Given the description of an element on the screen output the (x, y) to click on. 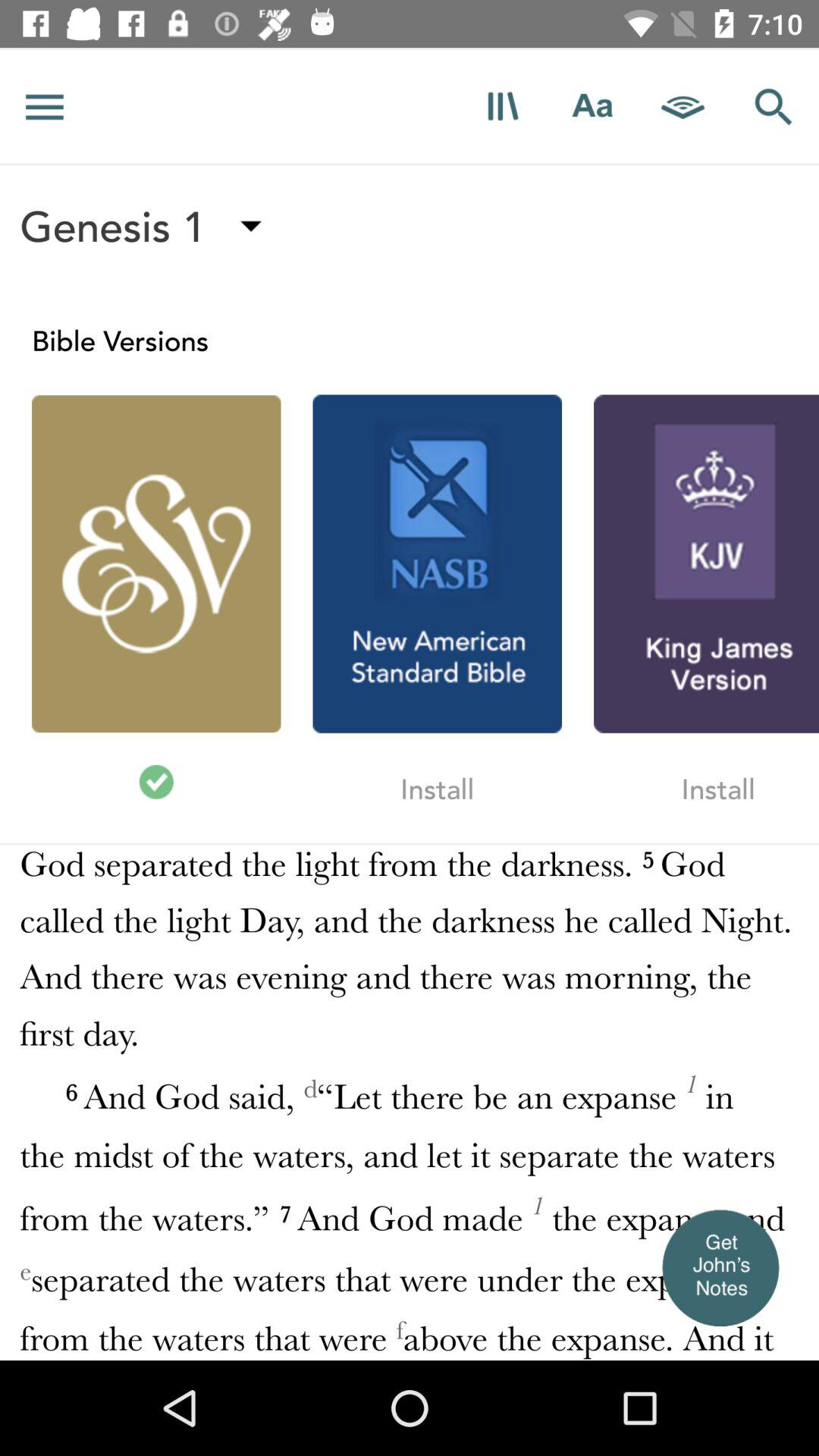
books (502, 106)
